Given the description of an element on the screen output the (x, y) to click on. 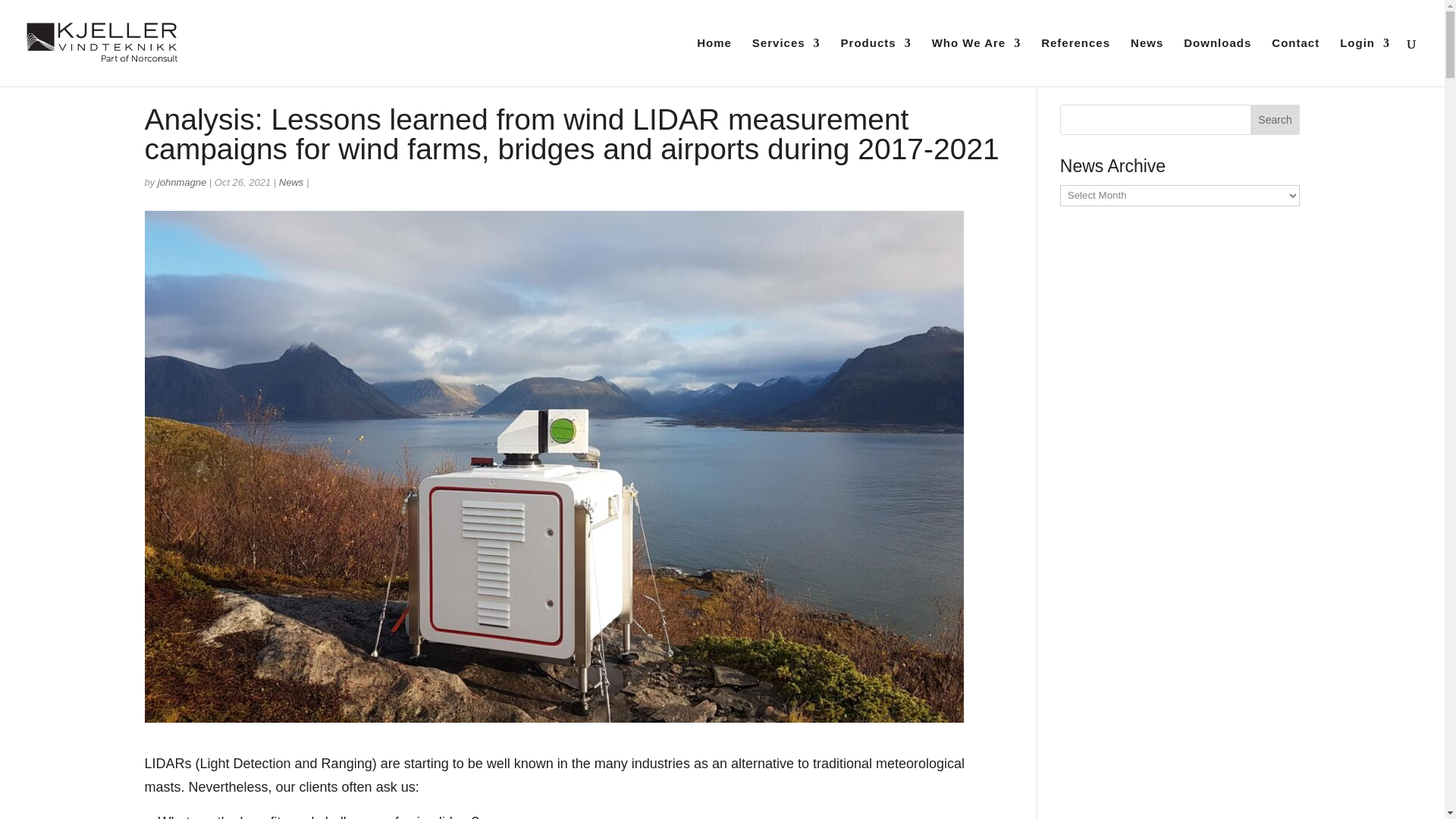
Services (786, 61)
Search (1275, 119)
Products (876, 61)
Posts by johnmagne (181, 182)
